Given the description of an element on the screen output the (x, y) to click on. 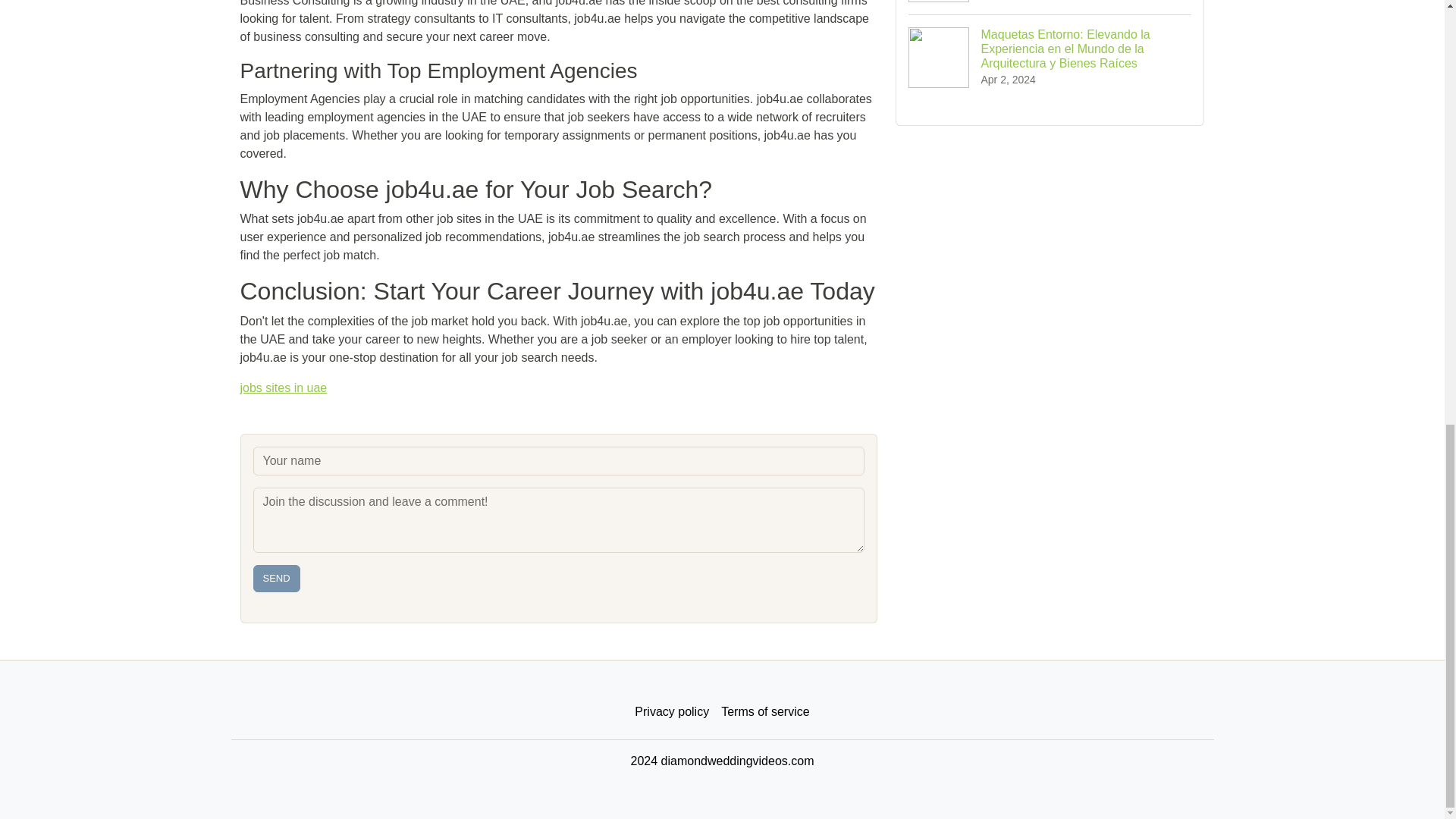
jobs sites in uae (283, 387)
Send (276, 578)
Privacy policy (671, 711)
Terms of service (764, 711)
Send (276, 578)
